Given the description of an element on the screen output the (x, y) to click on. 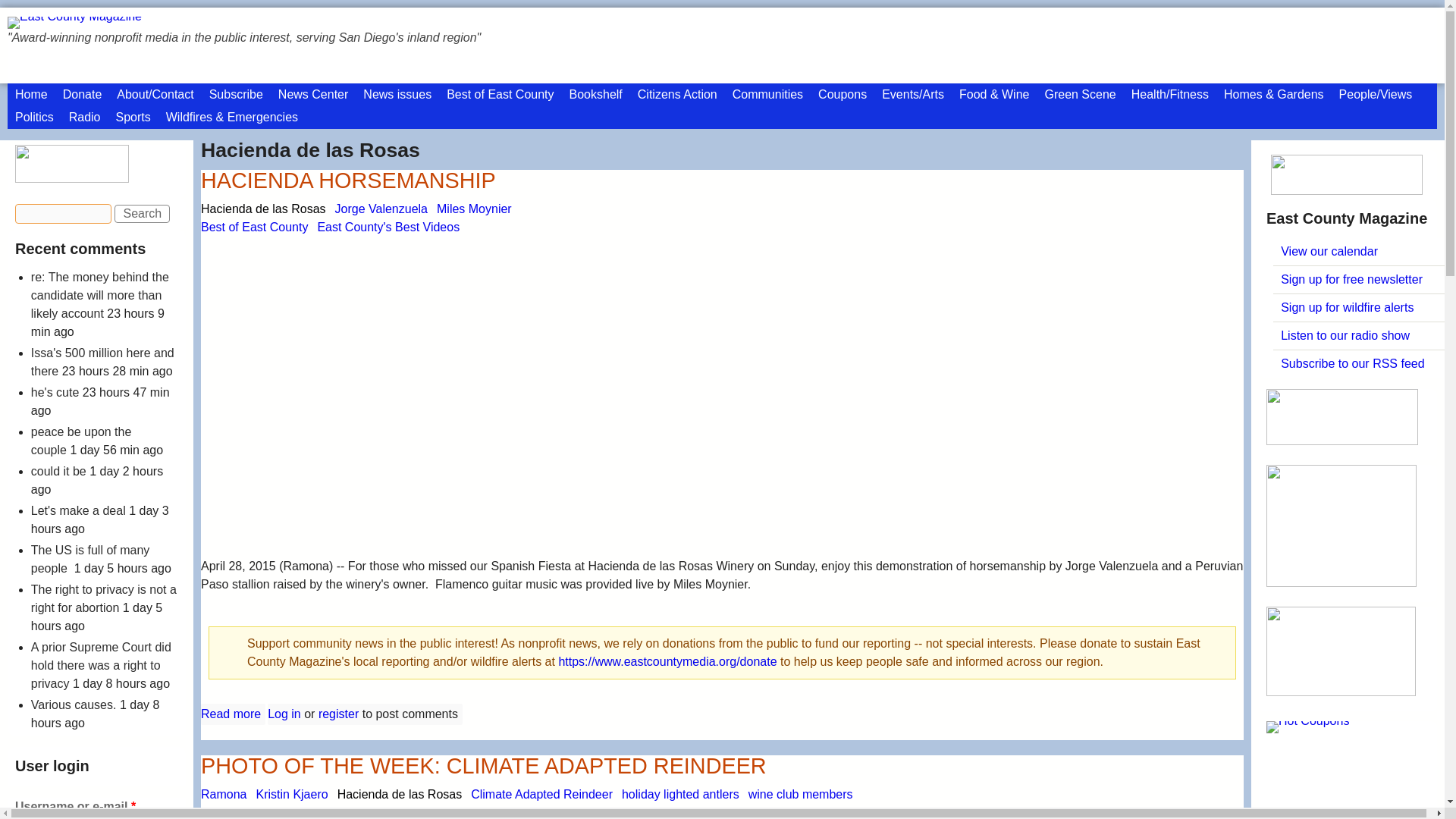
Search (142, 213)
Donate (82, 94)
Subscribe (236, 94)
News issues (397, 94)
Best of East County (499, 94)
News Center (312, 94)
Home (31, 94)
